Given the description of an element on the screen output the (x, y) to click on. 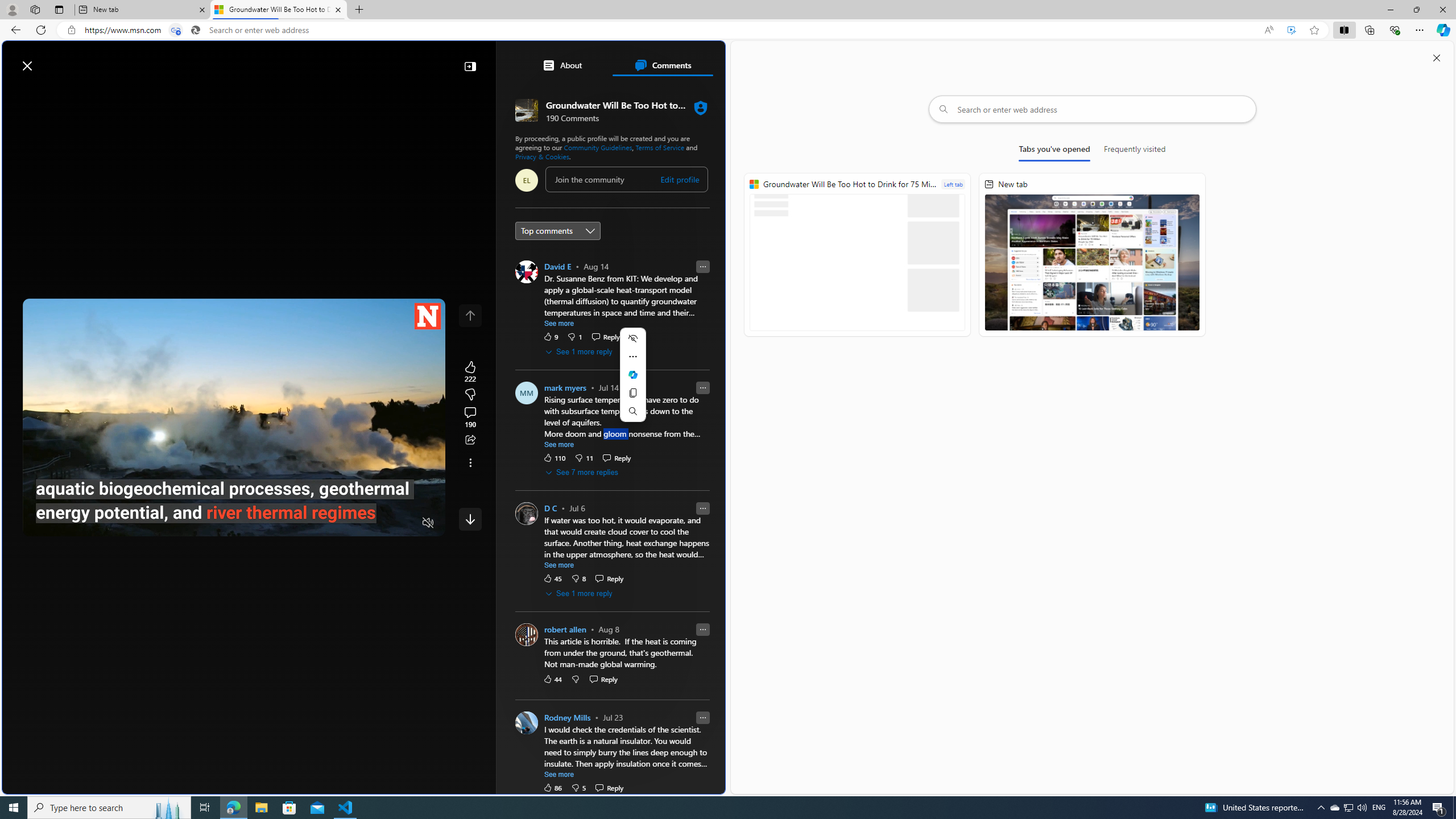
View comments 190 Comment (469, 417)
Open navigation menu (16, 92)
See 1 more reply (579, 593)
Report comment (702, 716)
Rodney Mills (567, 717)
Seek Back (62, 523)
Mini menu on text selection (632, 374)
